Given the description of an element on the screen output the (x, y) to click on. 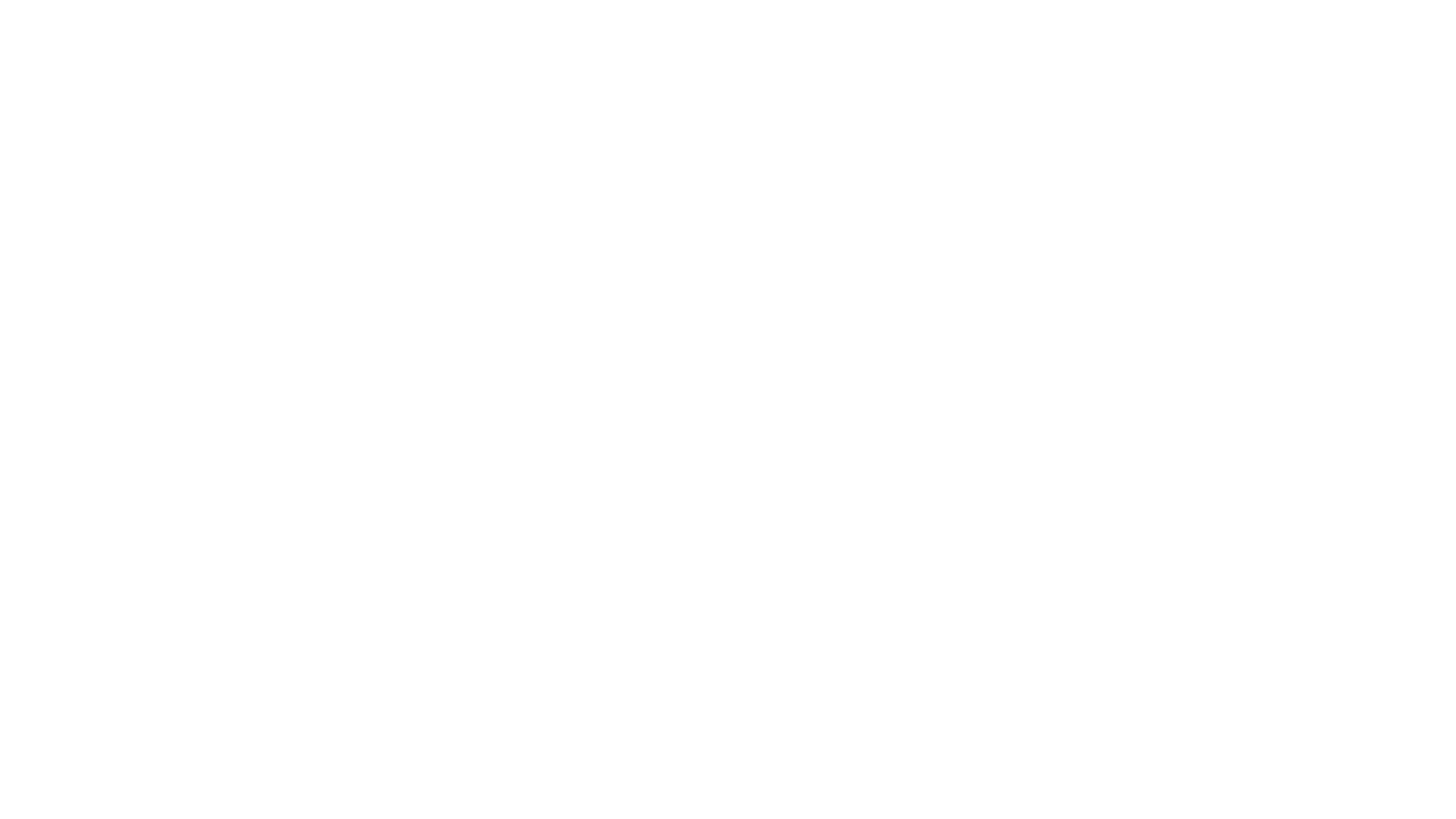
2019 Element type: text (665, 80)
